Given the description of an element on the screen output the (x, y) to click on. 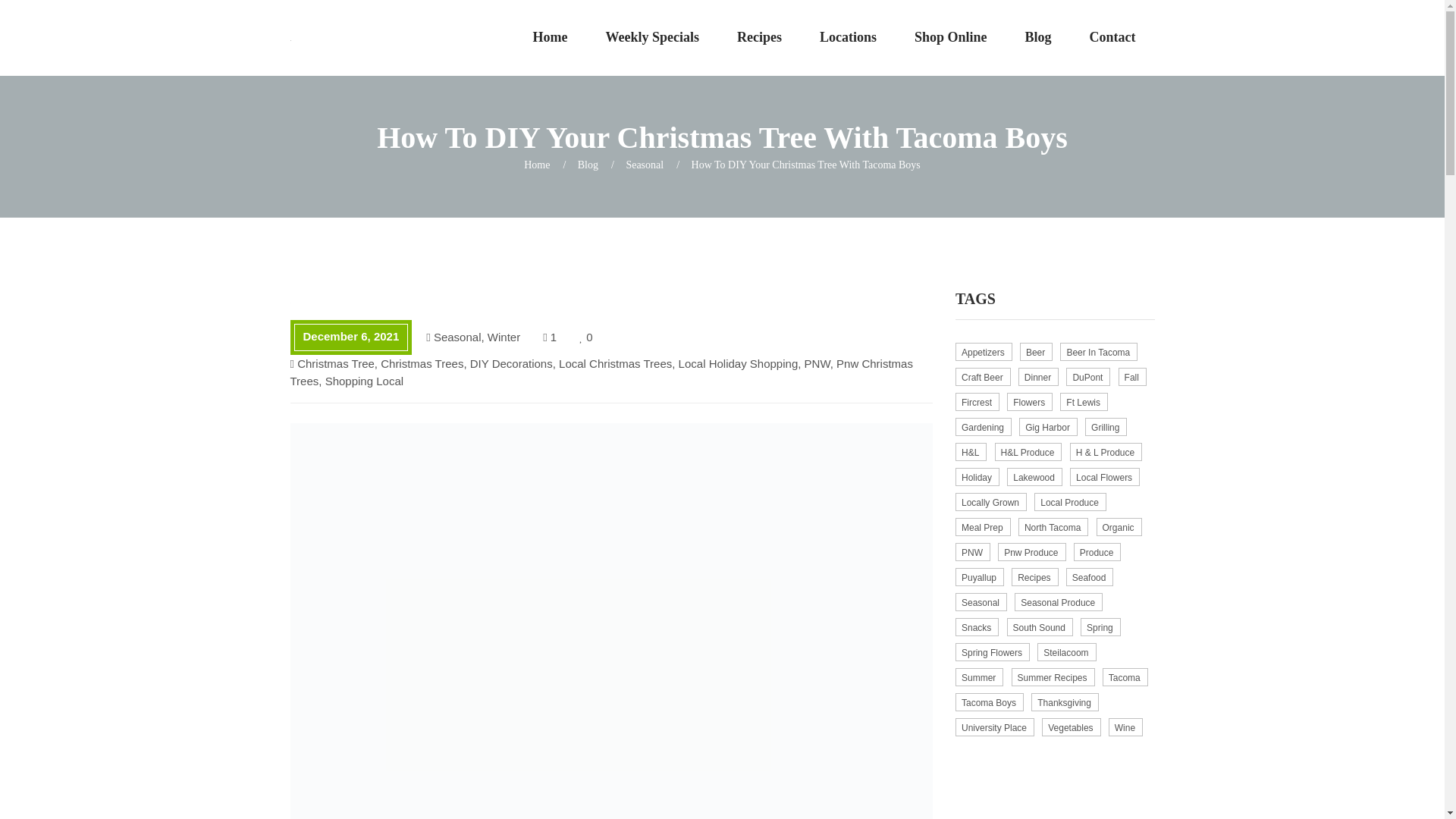
Weekly Specials (651, 38)
Shopping Local (363, 380)
Local Christmas Trees (615, 363)
Christmas Trees (421, 363)
Seasonal (644, 164)
Craft Beer (982, 376)
Home (537, 164)
 0 (585, 336)
Home (549, 38)
Locations (847, 38)
0 (585, 336)
Local Holiday Shopping (737, 363)
Beer (1036, 352)
Appetizers (983, 352)
Blog (588, 164)
